Given the description of an element on the screen output the (x, y) to click on. 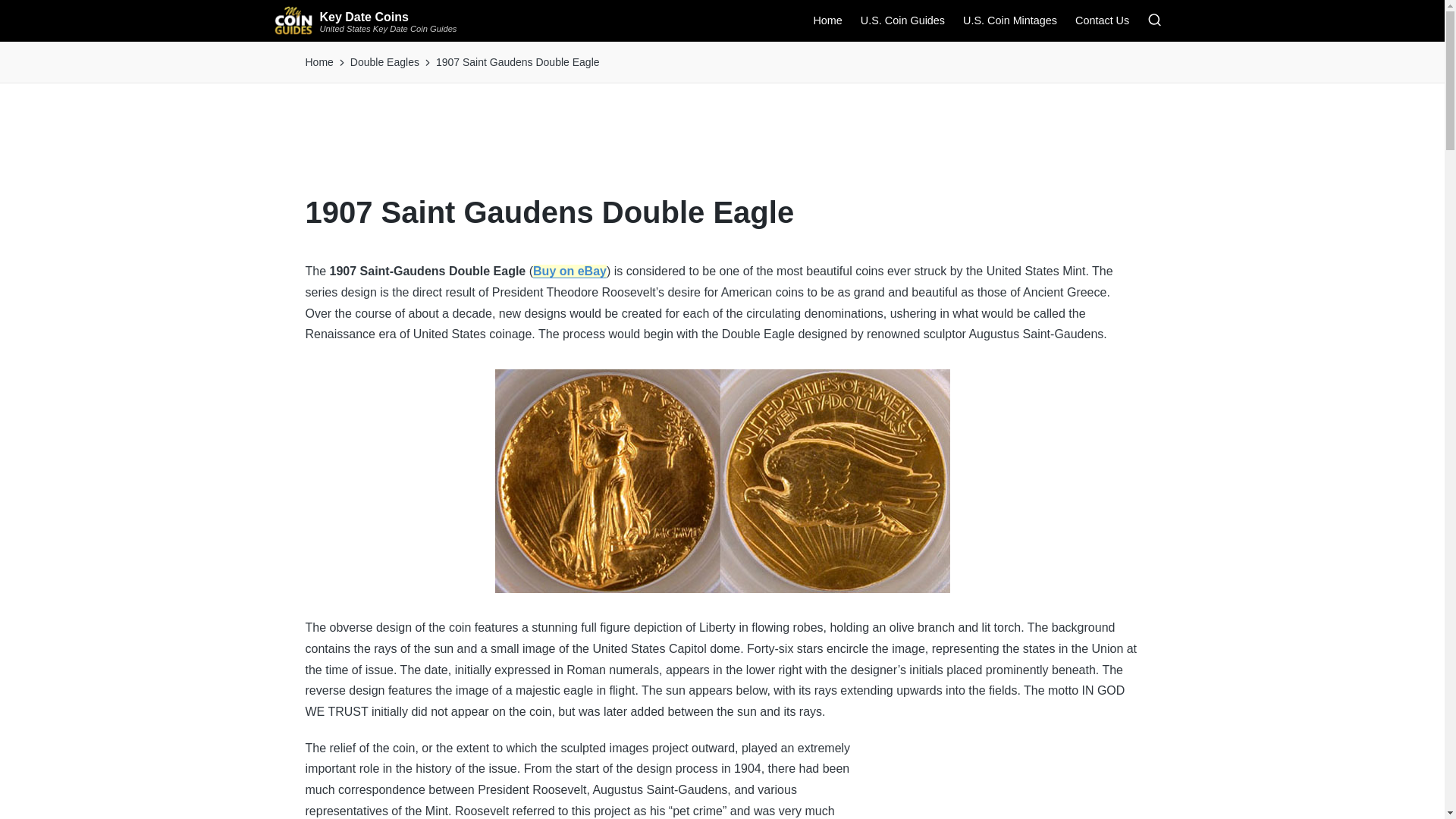
Double Eagles (384, 62)
Key Date Coins (388, 16)
Advertisement (1024, 789)
U.S. Coin Guides (902, 20)
Contact Us (1102, 20)
U.S. Coin Mintages (1009, 20)
Advertisement (722, 144)
Home (826, 20)
Home (318, 62)
Buy on eBay (569, 270)
